Given the description of an element on the screen output the (x, y) to click on. 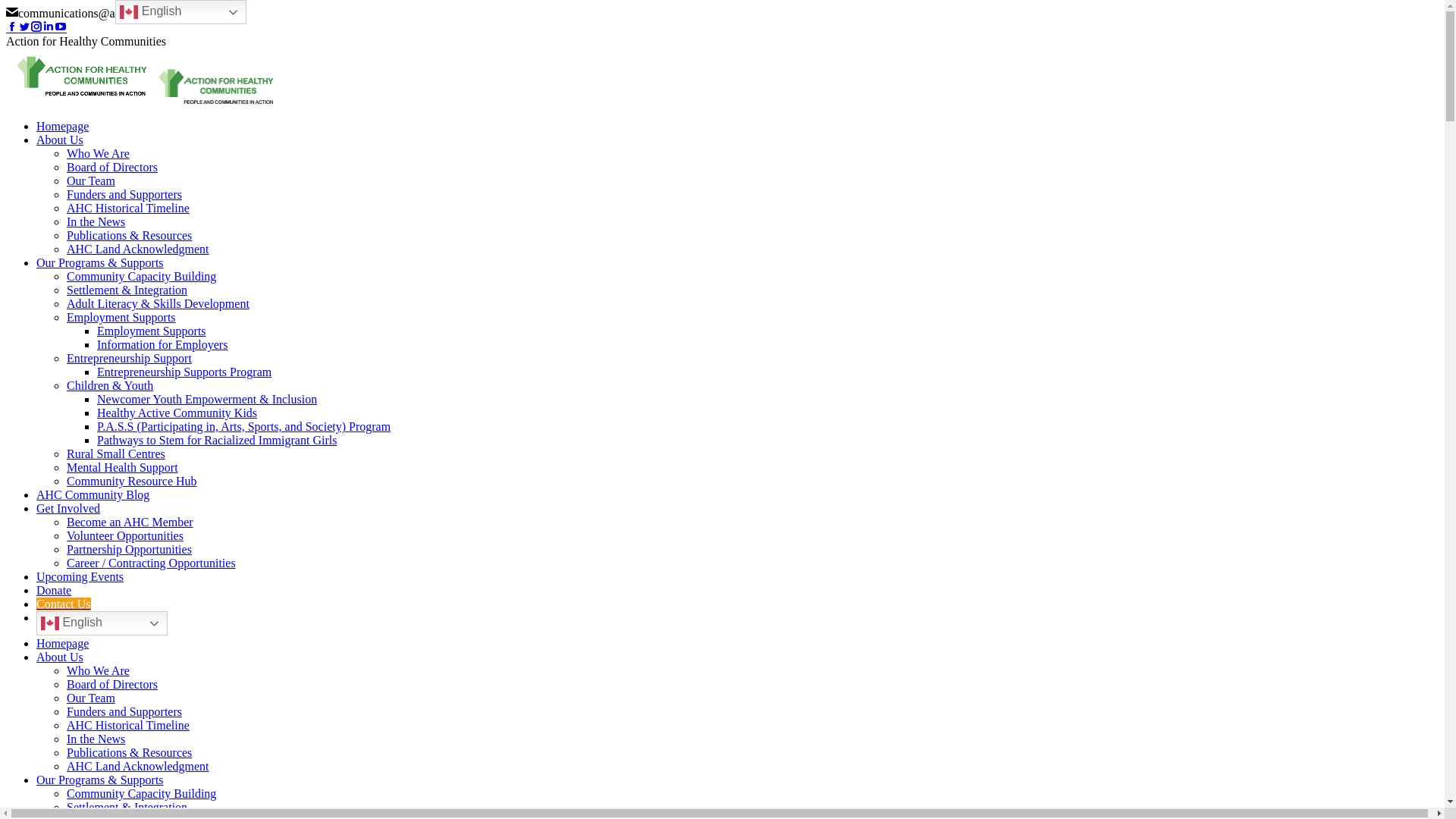
Partnership Opportunities Element type: text (128, 548)
Community Resource Hub Element type: text (131, 480)
Publications & Resources Element type: text (128, 752)
Our Team Element type: text (90, 180)
Board of Directors Element type: text (111, 683)
Community Capacity Building Element type: text (141, 793)
AHC Historical Timeline Element type: text (127, 724)
Who We Are Element type: text (97, 670)
Homepage Element type: text (62, 125)
Pathways to Stem for Racialized Immigrant Girls Element type: text (216, 439)
Contact Us Element type: text (63, 603)
Adult Literacy & Skills Development Element type: text (157, 303)
Community Capacity Building Element type: text (141, 275)
Skip to content Element type: text (5, 5)
Facebook page opens in new window Element type: text (12, 27)
Employment Supports Element type: text (120, 316)
About Us Element type: text (59, 139)
Get Involved Element type: text (68, 508)
Rural Small Centres Element type: text (115, 453)
Homepage Element type: text (62, 643)
Entrepreneurship Supports Program Element type: text (184, 371)
Become an AHC Member Element type: text (129, 521)
Funders and Supporters Element type: text (124, 711)
Healthy Active Community Kids Element type: text (177, 412)
Upcoming Events Element type: text (79, 576)
Donate Element type: text (53, 589)
In the News Element type: text (95, 221)
Newcomer Youth Empowerment & Inclusion Element type: text (206, 398)
AHC Community Blog Element type: text (92, 494)
Entrepreneurship Support Element type: text (128, 357)
Who We Are Element type: text (97, 153)
English Element type: text (180, 12)
Children & Youth Element type: text (109, 385)
About Us Element type: text (59, 656)
Board of Directors Element type: text (111, 166)
Funders and Supporters Element type: text (124, 194)
AHC Land Acknowledgment Element type: text (137, 765)
Twitter page opens in new window Element type: text (24, 27)
In the News Element type: text (95, 738)
Linkedin page opens in new window Element type: text (48, 27)
Settlement & Integration Element type: text (126, 289)
Our Team Element type: text (90, 697)
Publications & Resources Element type: text (128, 235)
YouTube page opens in new window Element type: text (60, 27)
Career / Contracting Opportunities Element type: text (150, 562)
Mental Health Support Element type: text (122, 467)
Information for Employers Element type: text (162, 344)
Employment Supports Element type: text (151, 330)
English Element type: text (101, 623)
Our Programs & Supports Element type: text (99, 262)
Volunteer Opportunities Element type: text (124, 535)
Instagram page opens in new window Element type: text (36, 27)
Settlement & Integration Element type: text (126, 806)
AHC Historical Timeline Element type: text (127, 207)
Our Programs & Supports Element type: text (99, 779)
AHC Land Acknowledgment Element type: text (137, 248)
